Given the description of an element on the screen output the (x, y) to click on. 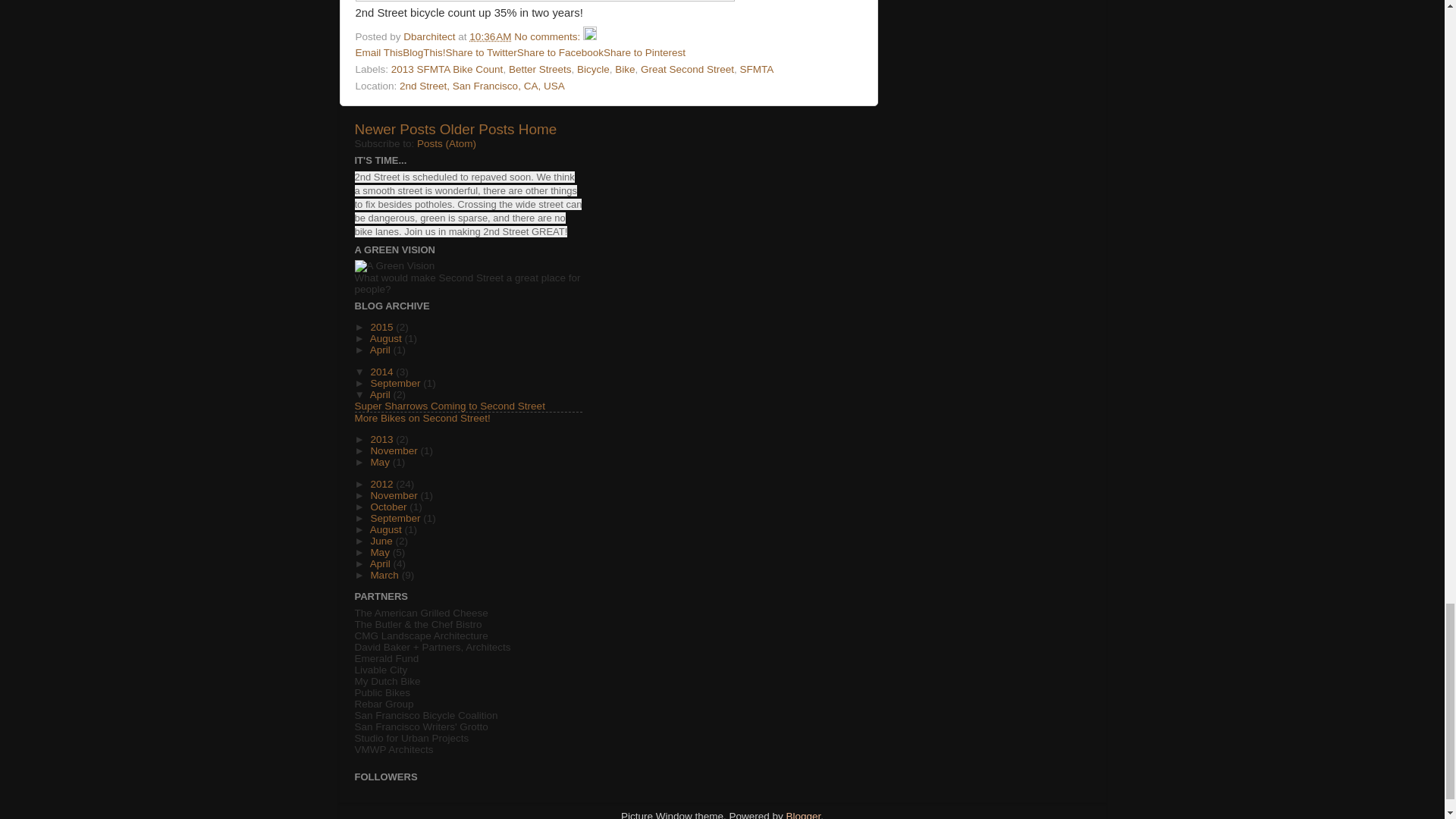
BlogThis! (424, 52)
permanent link (489, 36)
Bicycle (593, 69)
Share to Twitter (480, 52)
2nd Street, San Francisco, CA, USA (481, 85)
Edit Post (589, 36)
Better Streets (540, 69)
BlogThis! (424, 52)
author profile (430, 36)
Great Second Street (686, 69)
Email This (379, 52)
Dbarchitect (430, 36)
2013 SFMTA Bike Count (447, 69)
Email This (379, 52)
